Given the description of an element on the screen output the (x, y) to click on. 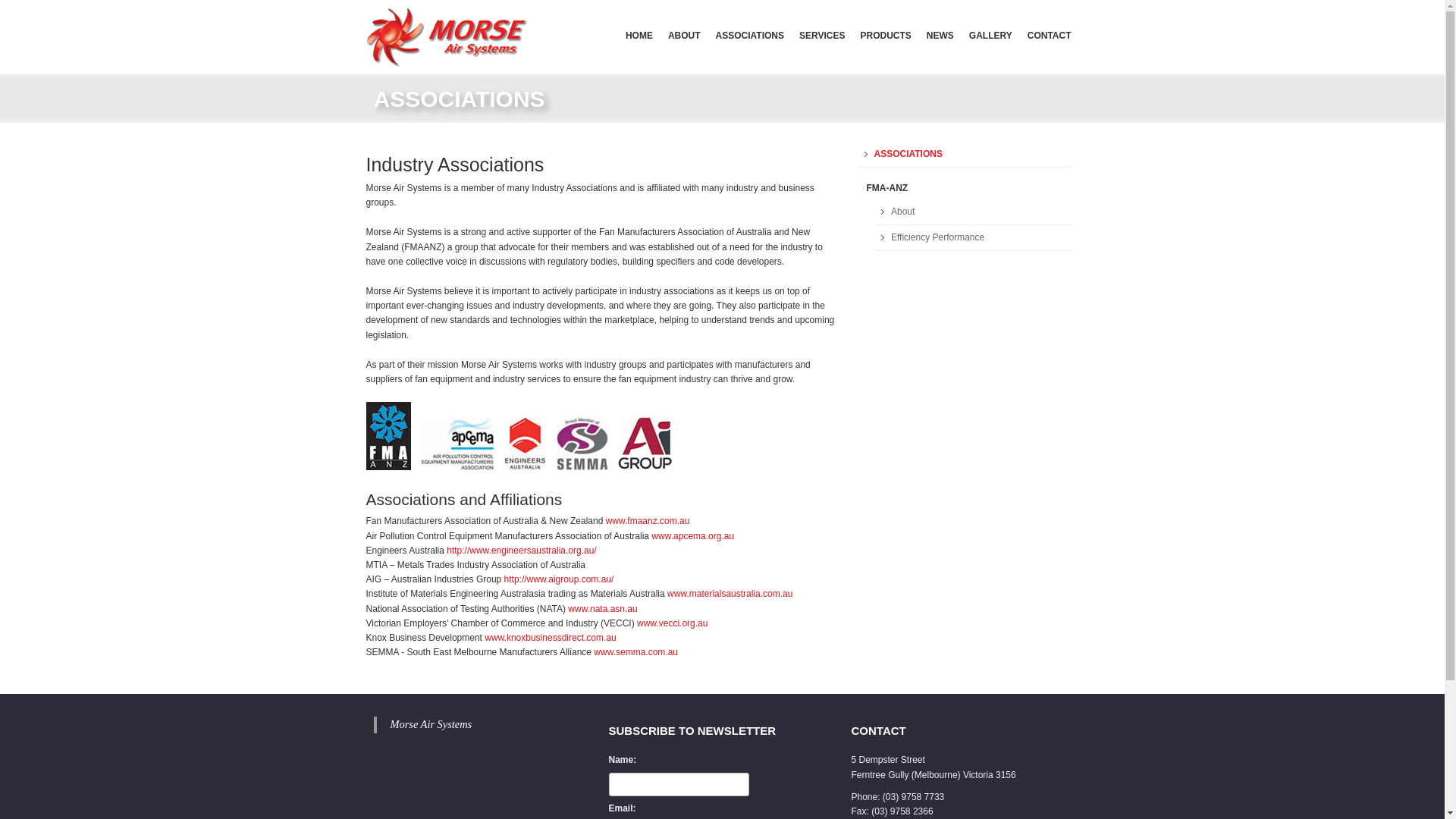
www.semma.com.au Element type: text (635, 651)
HOME Element type: text (639, 34)
ABOUT Element type: text (684, 34)
www.vecci.org.au Element type: text (672, 623)
SERVICES Element type: text (821, 34)
CONTACT Element type: text (1049, 34)
www.nata.asn.au Element type: text (602, 608)
www.apcema.org.au Element type: text (692, 535)
NEWS Element type: text (940, 34)
PRODUCTS Element type: text (885, 34)
www.materialsaustralia.com.au Element type: text (729, 593)
http://www.aigroup.com.au/ Element type: text (559, 579)
www.fmaanz.com.au Element type: text (647, 520)
ASSOCIATIONS Element type: text (749, 34)
About Element type: text (973, 212)
http://www.engineersaustralia.org.au/ Element type: text (521, 550)
GALLERY Element type: text (990, 34)
Morse Air Systems Element type: text (430, 724)
www.knoxbusinessdirect.com.au Element type: text (549, 637)
Efficiency Performance Element type: text (973, 238)
ASSOCIATIONS Element type: text (964, 154)
